Given the description of an element on the screen output the (x, y) to click on. 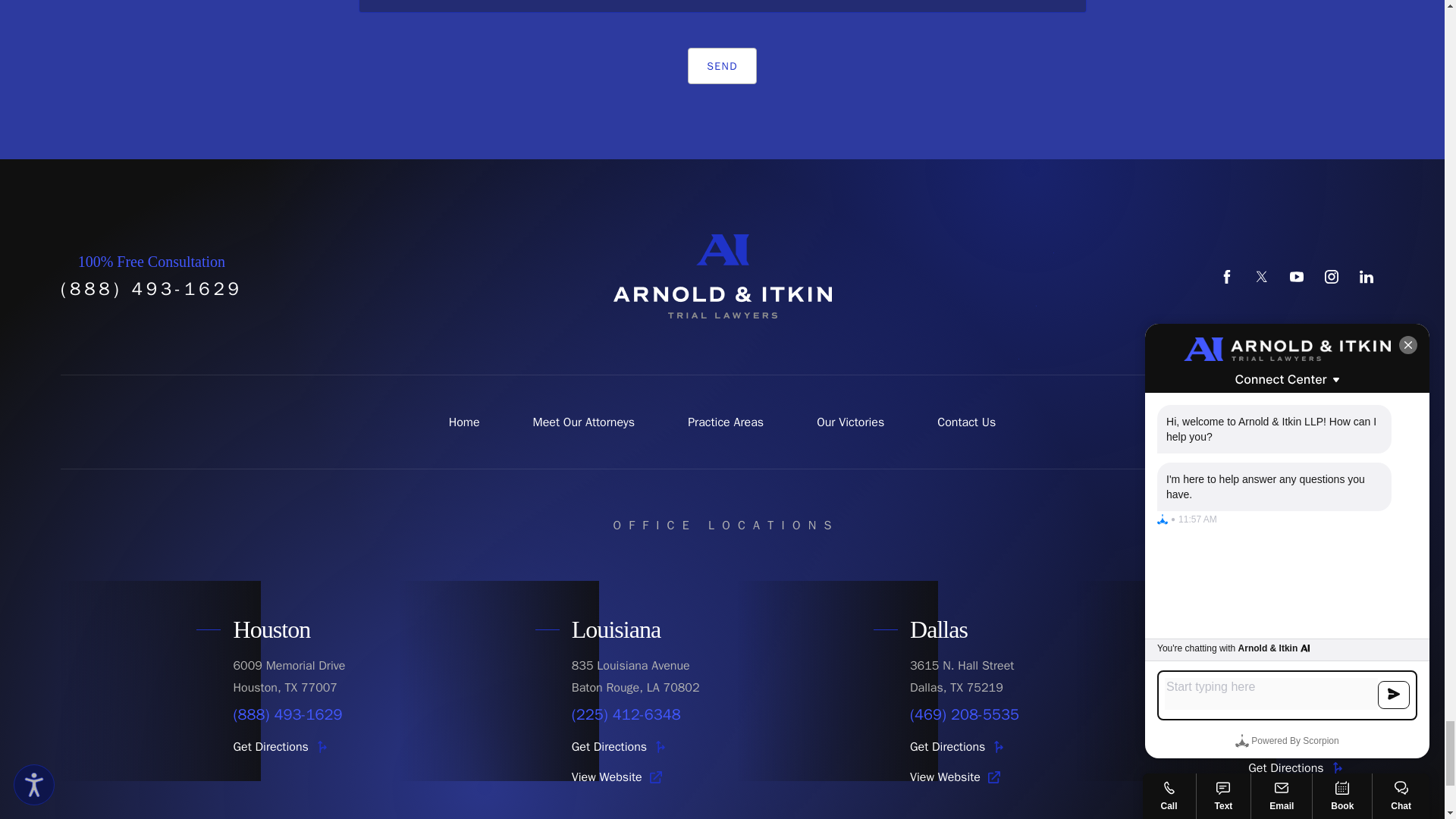
Twitter (1261, 276)
Facebook (1227, 276)
Instagram (1331, 276)
LinkedIn (1366, 276)
YouTube (1296, 276)
